Given the description of an element on the screen output the (x, y) to click on. 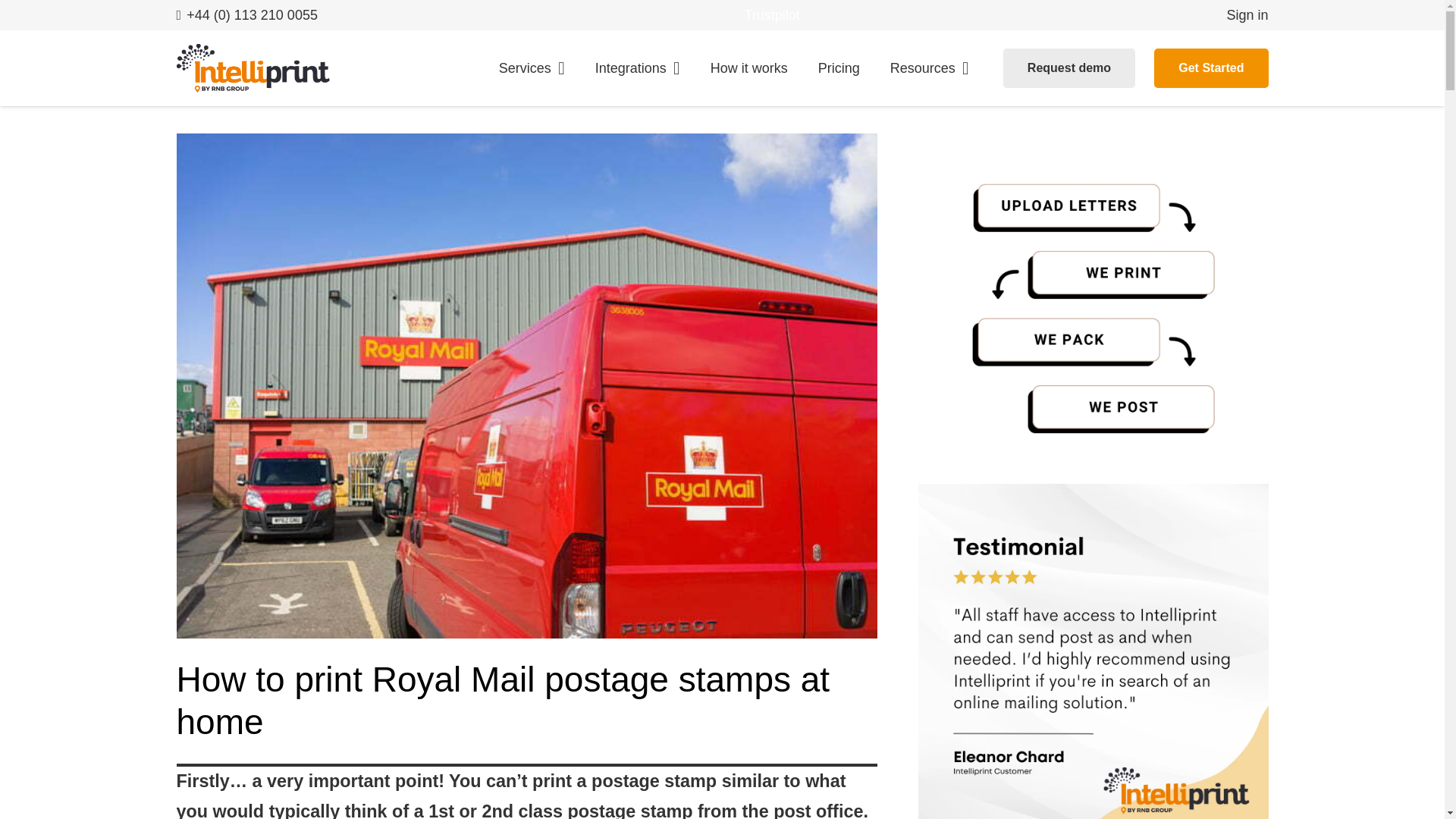
Integrations (637, 68)
Resources (929, 68)
Trustpilot (771, 14)
How it works (749, 68)
Pricing (839, 68)
Request demo (1069, 67)
Sign in (1246, 14)
Get Started (1211, 67)
Services (531, 68)
